Given the description of an element on the screen output the (x, y) to click on. 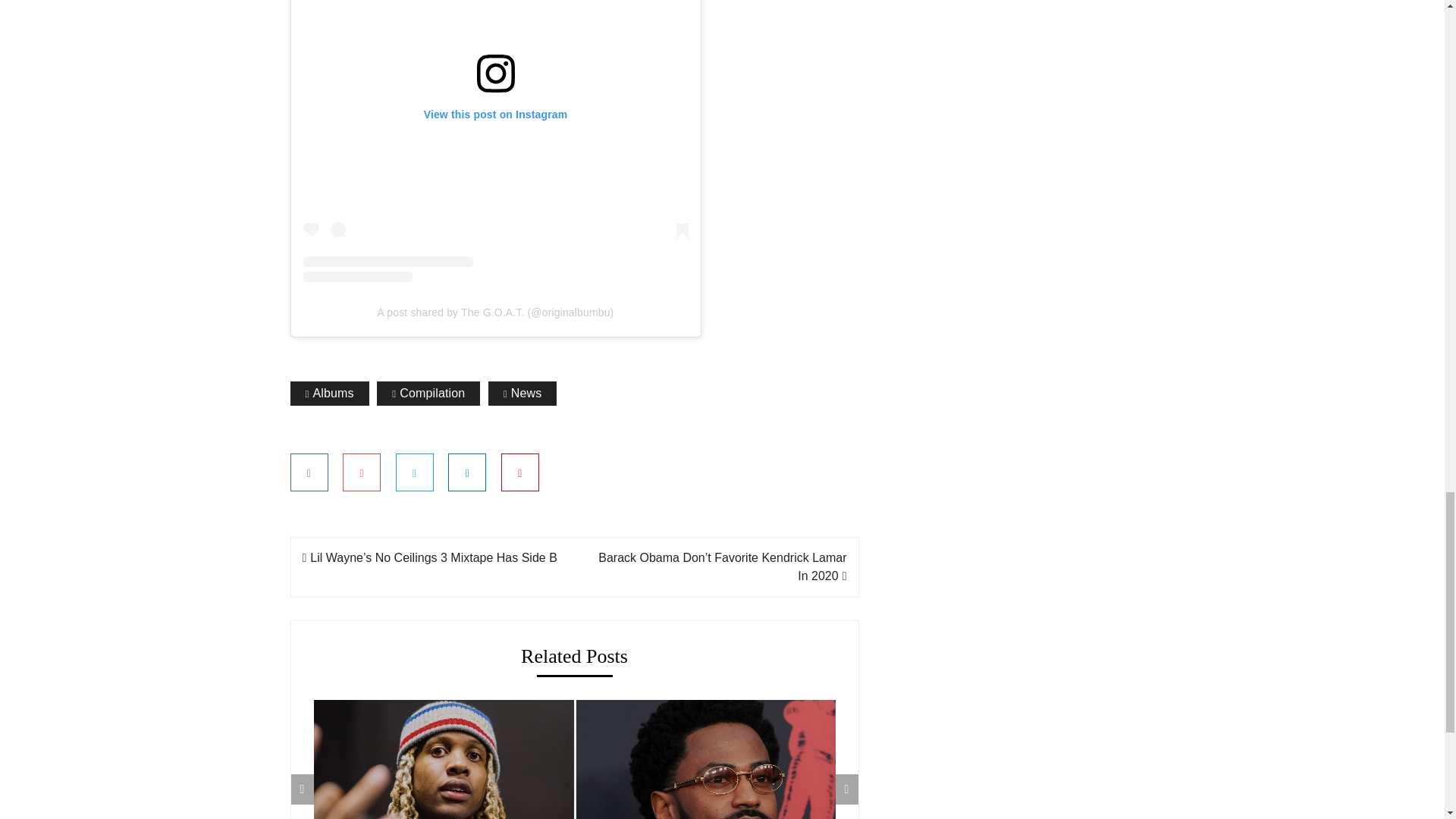
Albums (328, 393)
View this post on Instagram (495, 141)
News (522, 393)
Compilation (428, 393)
